Given the description of an element on the screen output the (x, y) to click on. 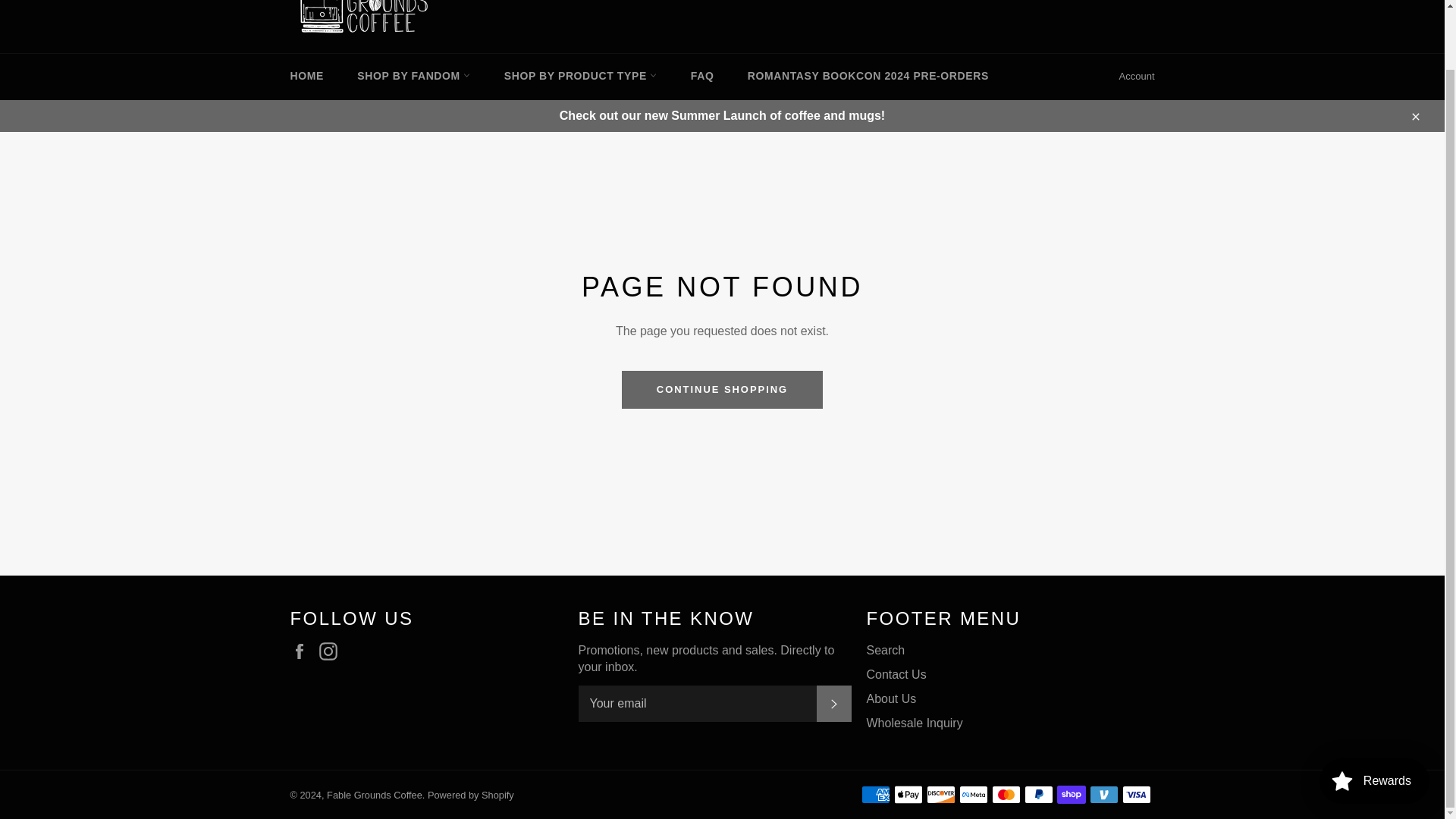
Search (1104, 4)
Fable Grounds Coffee on Facebook (302, 651)
Fable Grounds Coffee on Instagram (331, 651)
Cart (1138, 5)
